Given the description of an element on the screen output the (x, y) to click on. 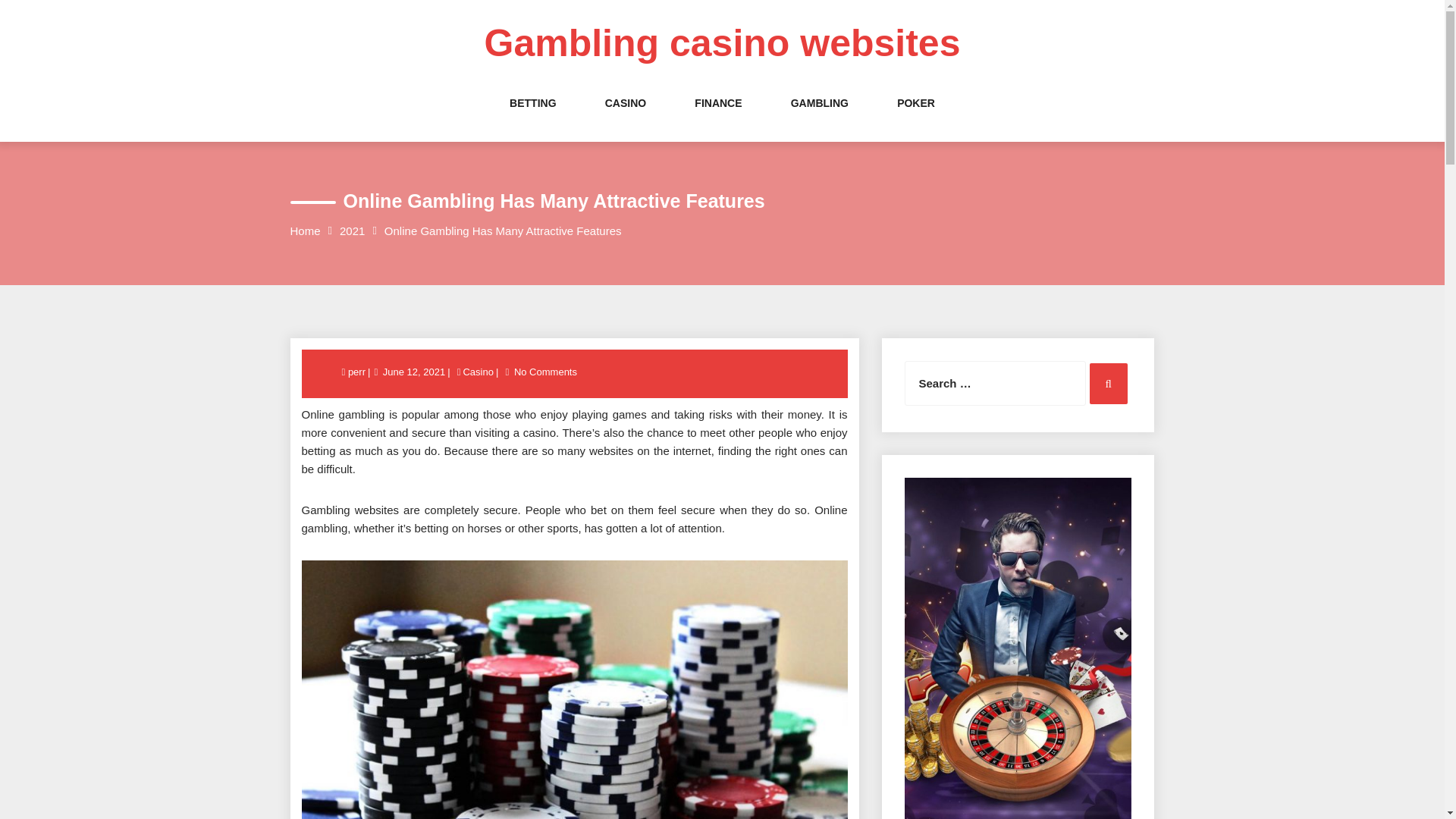
Home (304, 230)
BETTING (532, 118)
GAMBLING (819, 118)
Casino (477, 371)
perr (357, 371)
CASINO (625, 118)
Search (1107, 383)
June 12, 2021 (413, 371)
2021 (352, 230)
FINANCE (717, 118)
No Comments (545, 371)
Gambling casino websites (722, 43)
